Given the description of an element on the screen output the (x, y) to click on. 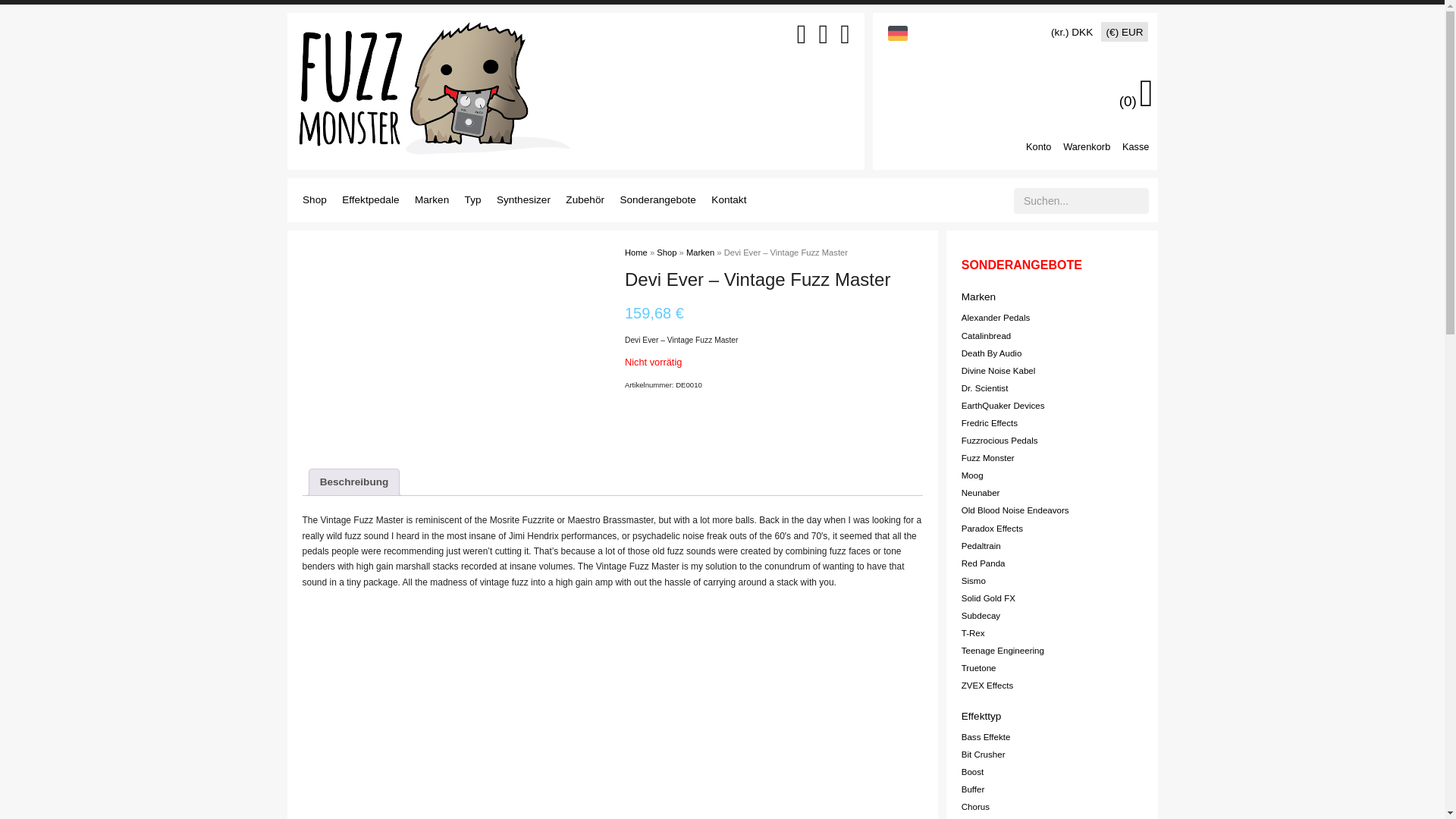
EarthQuaker Devices (1002, 405)
Shop (314, 200)
Marken (699, 252)
Marken (431, 200)
Warenkorb (1085, 146)
Konto (1038, 146)
Moog (972, 474)
Beschreibung (354, 482)
Marken (977, 296)
Typ (472, 200)
